Given the description of an element on the screen output the (x, y) to click on. 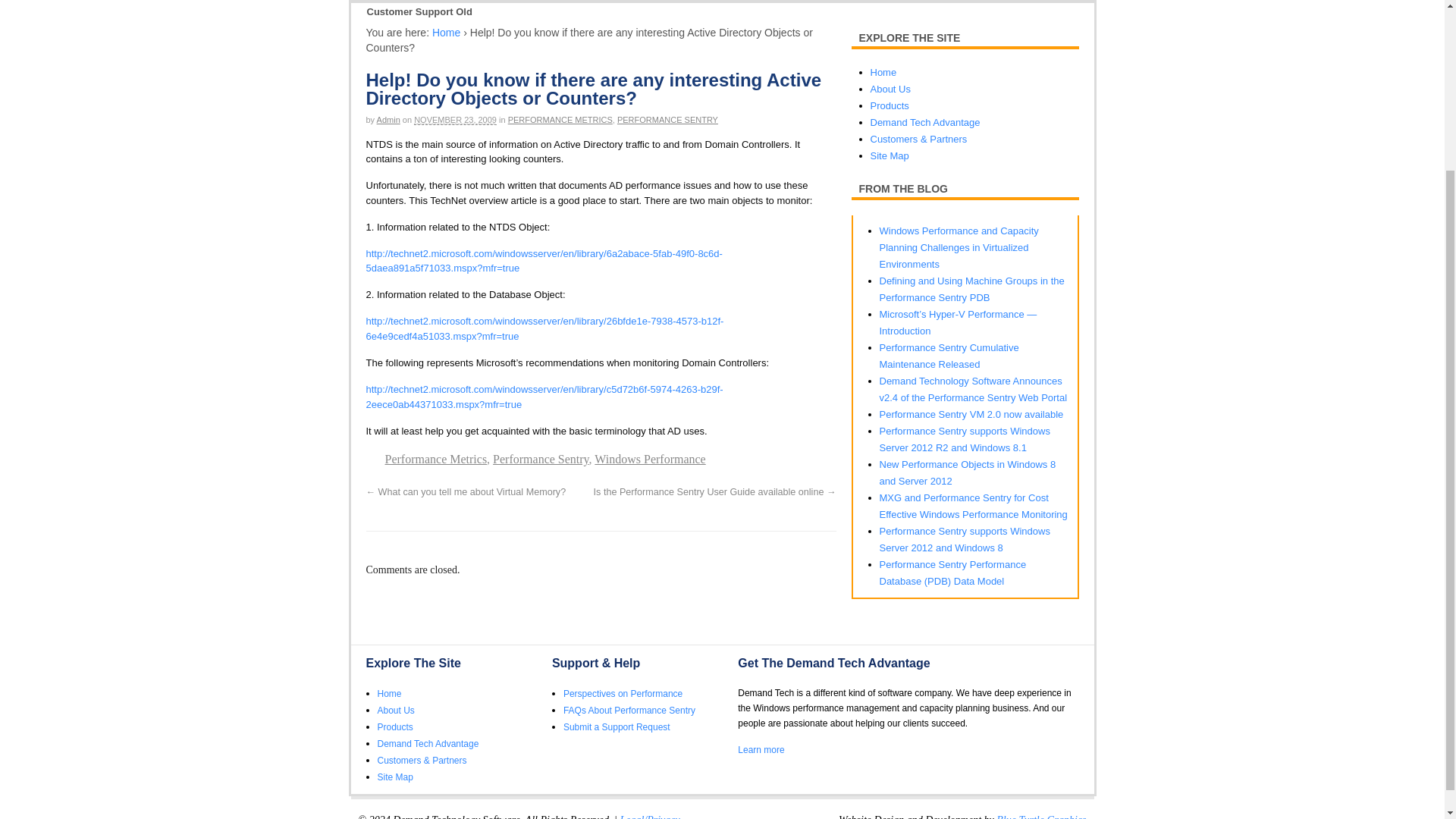
Admin (388, 119)
PERFORMANCE SENTRY (667, 119)
Customer Support Old (419, 12)
Home (446, 32)
Performance Metrics (436, 459)
PERFORMANCE METRICS (560, 119)
